Given the description of an element on the screen output the (x, y) to click on. 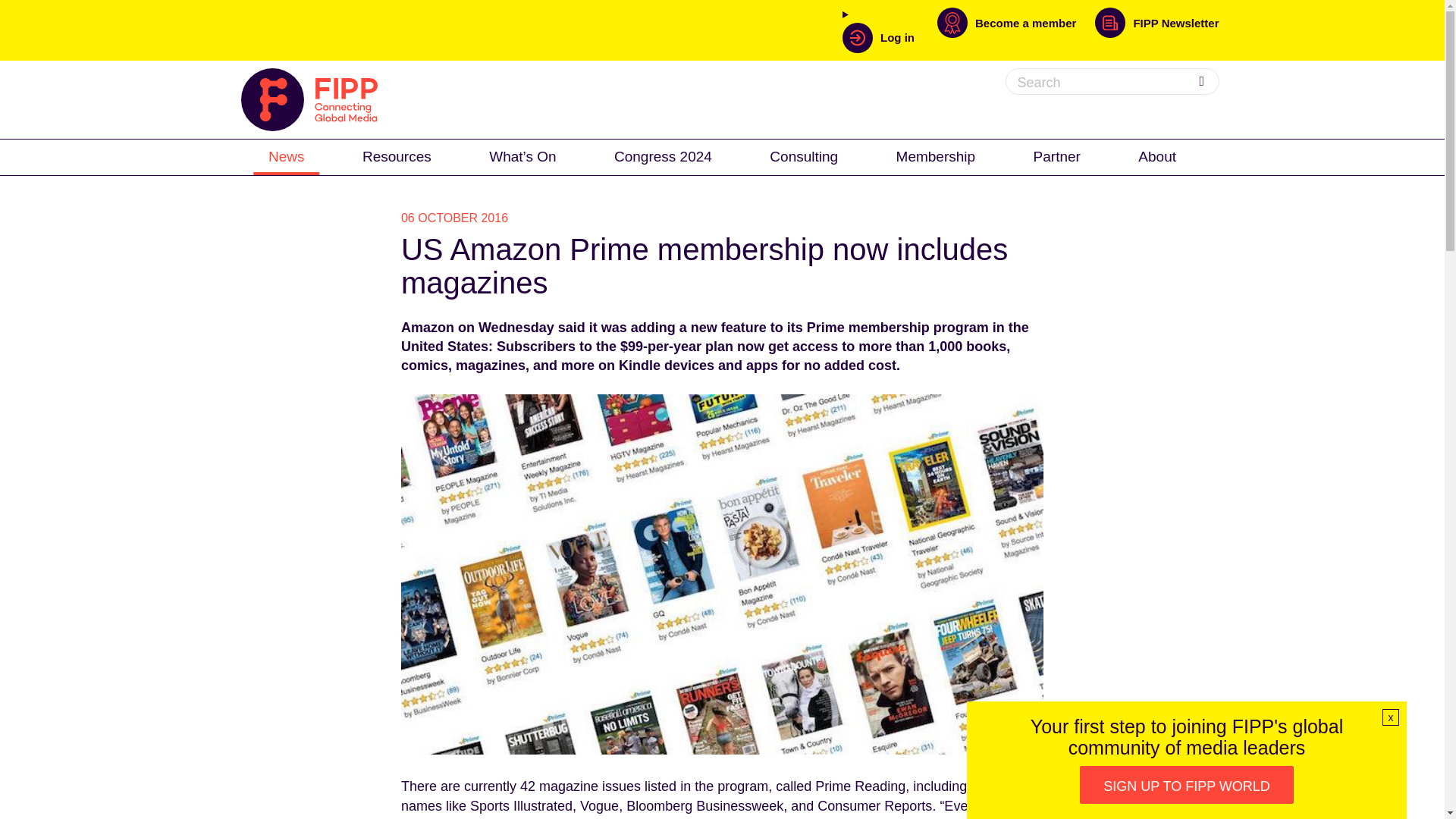
Partner (1056, 155)
Resources (396, 155)
Membership (935, 155)
Become a member (1015, 30)
Congress 2024 (662, 155)
About (1156, 155)
FIPP Newsletter (1156, 30)
News (286, 155)
Consulting (803, 155)
